Given the description of an element on the screen output the (x, y) to click on. 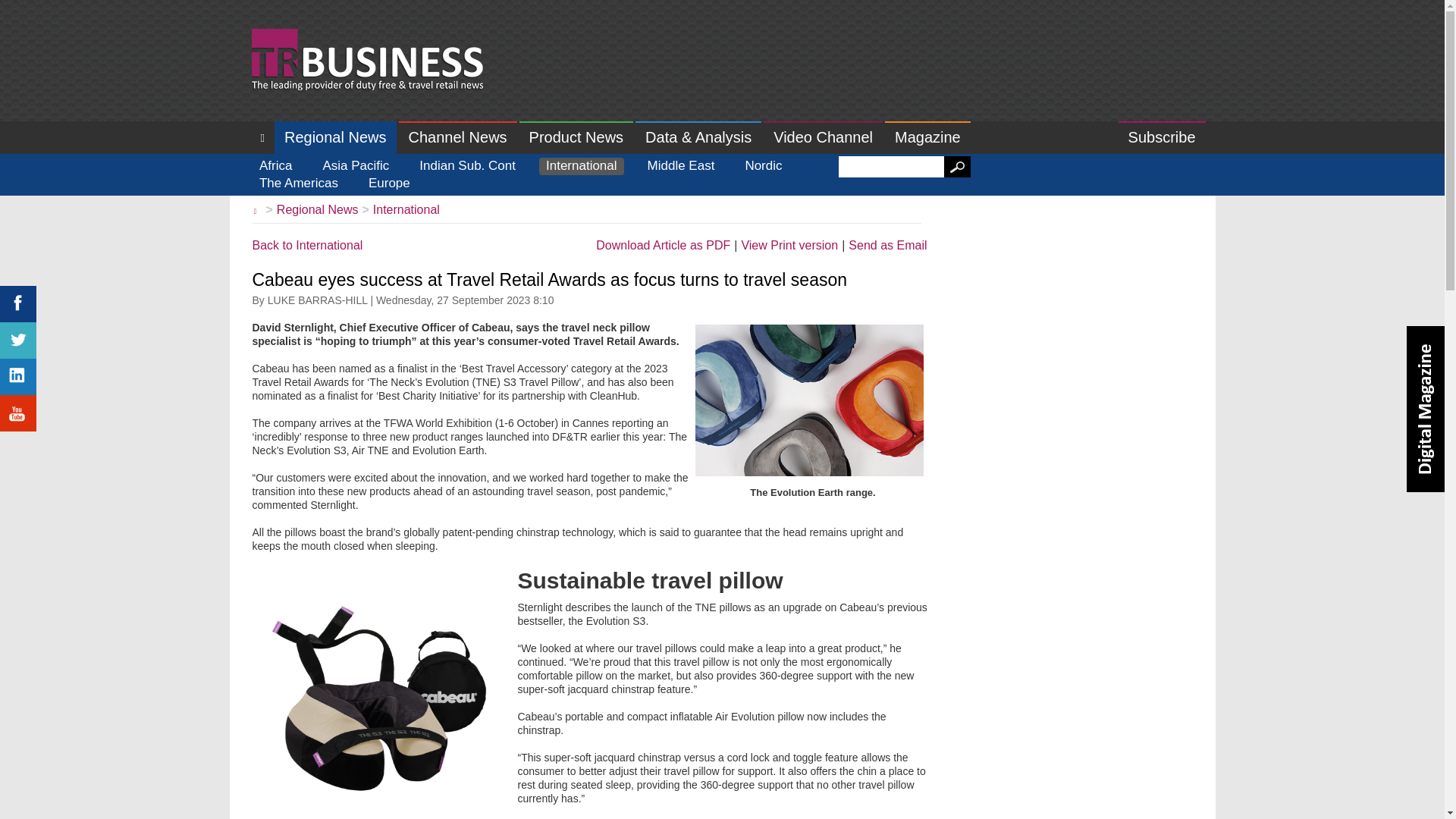
Search (957, 166)
Evolution-Earth (808, 399)
The-Necks-Evolution-S3 (376, 696)
Indian Sub. Cont (467, 166)
Search (957, 166)
International (405, 209)
International (581, 166)
Middle East (681, 166)
Europe (388, 183)
Channel News (457, 137)
